Given the description of an element on the screen output the (x, y) to click on. 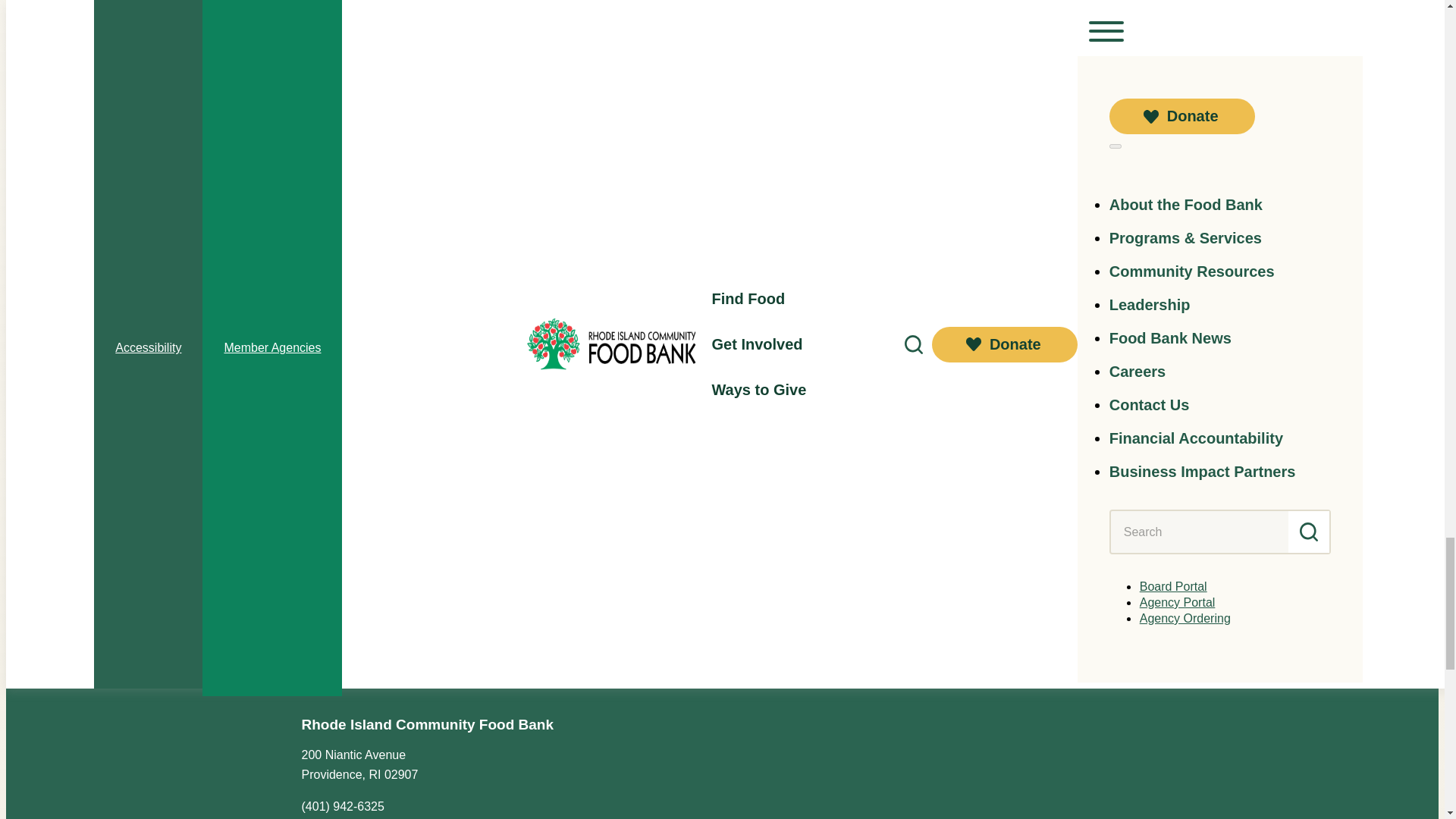
Sign Up (722, 405)
Sign Up (722, 405)
